Given the description of an element on the screen output the (x, y) to click on. 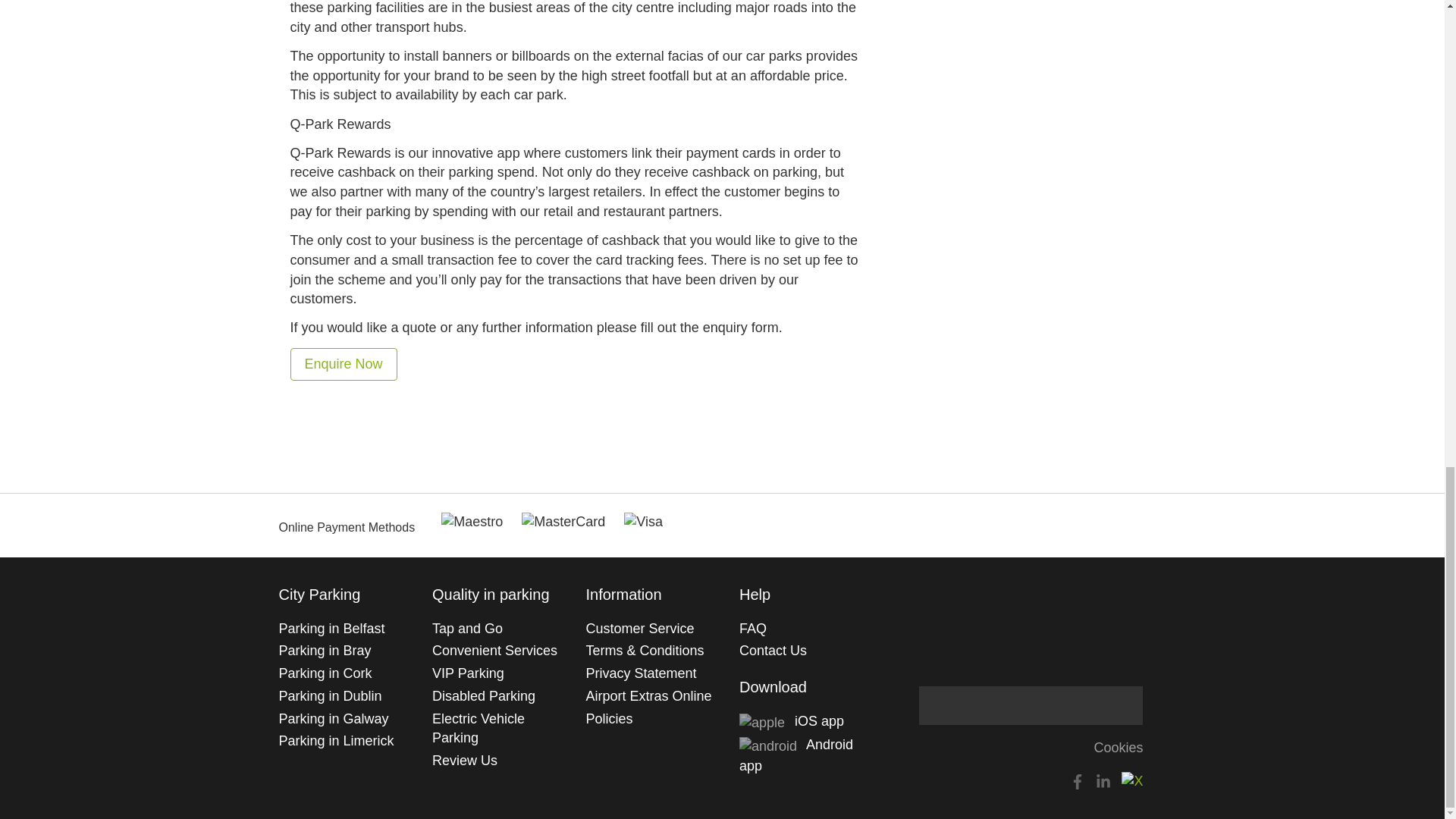
Maestro (471, 522)
Enquire Now (343, 363)
Visa (643, 522)
MasterCard (563, 522)
